Given the description of an element on the screen output the (x, y) to click on. 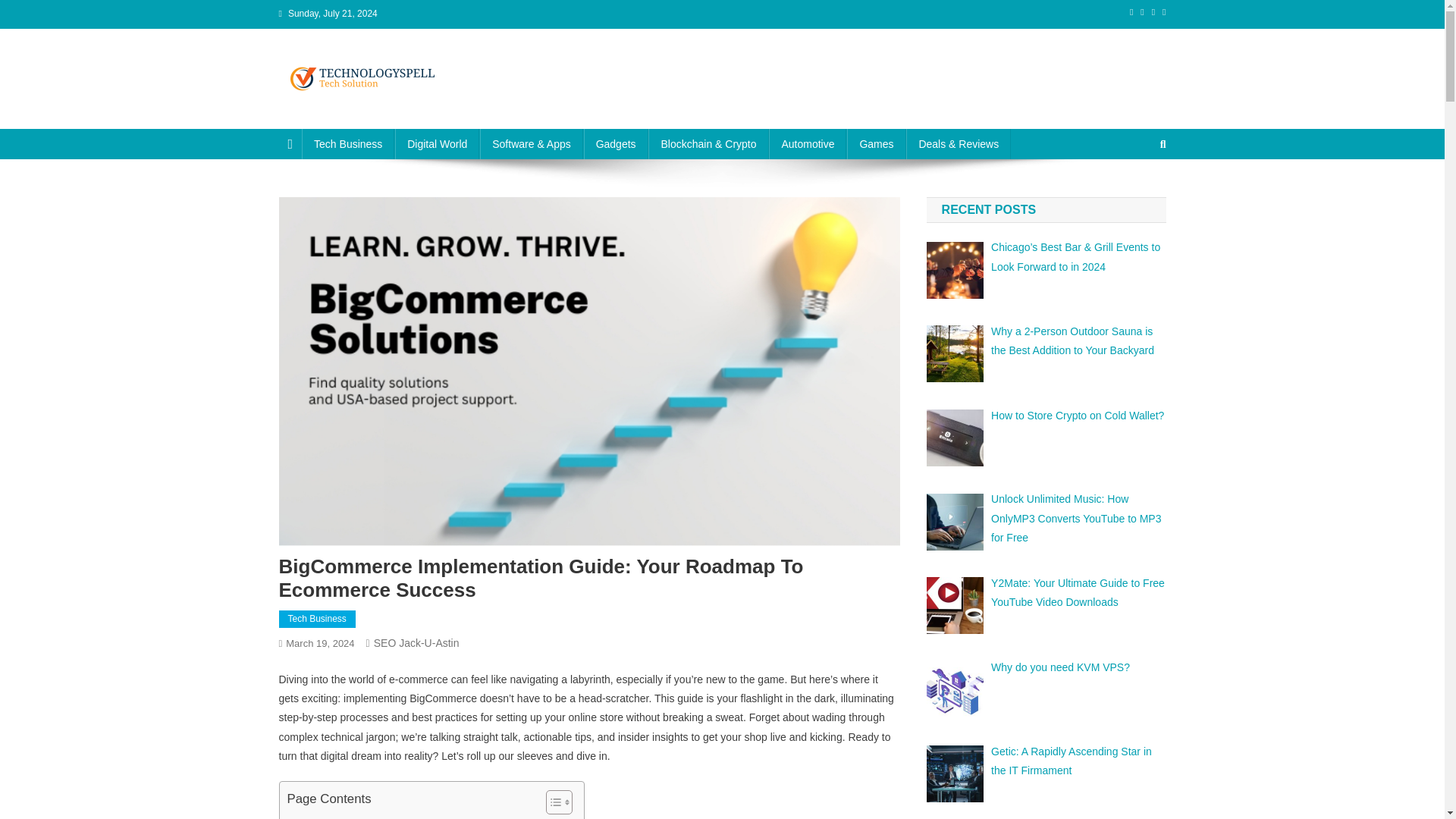
Gadgets (615, 143)
Tech Business (347, 143)
Selecting the Right Ecommerce Platform (376, 816)
March 19, 2024 (319, 643)
Search (1133, 194)
Games (876, 143)
Automotive (806, 143)
Tech Business (317, 619)
Digital World (436, 143)
Selecting the Right Ecommerce Platform (376, 816)
SEO Jack-U-Astin (417, 643)
